Given the description of an element on the screen output the (x, y) to click on. 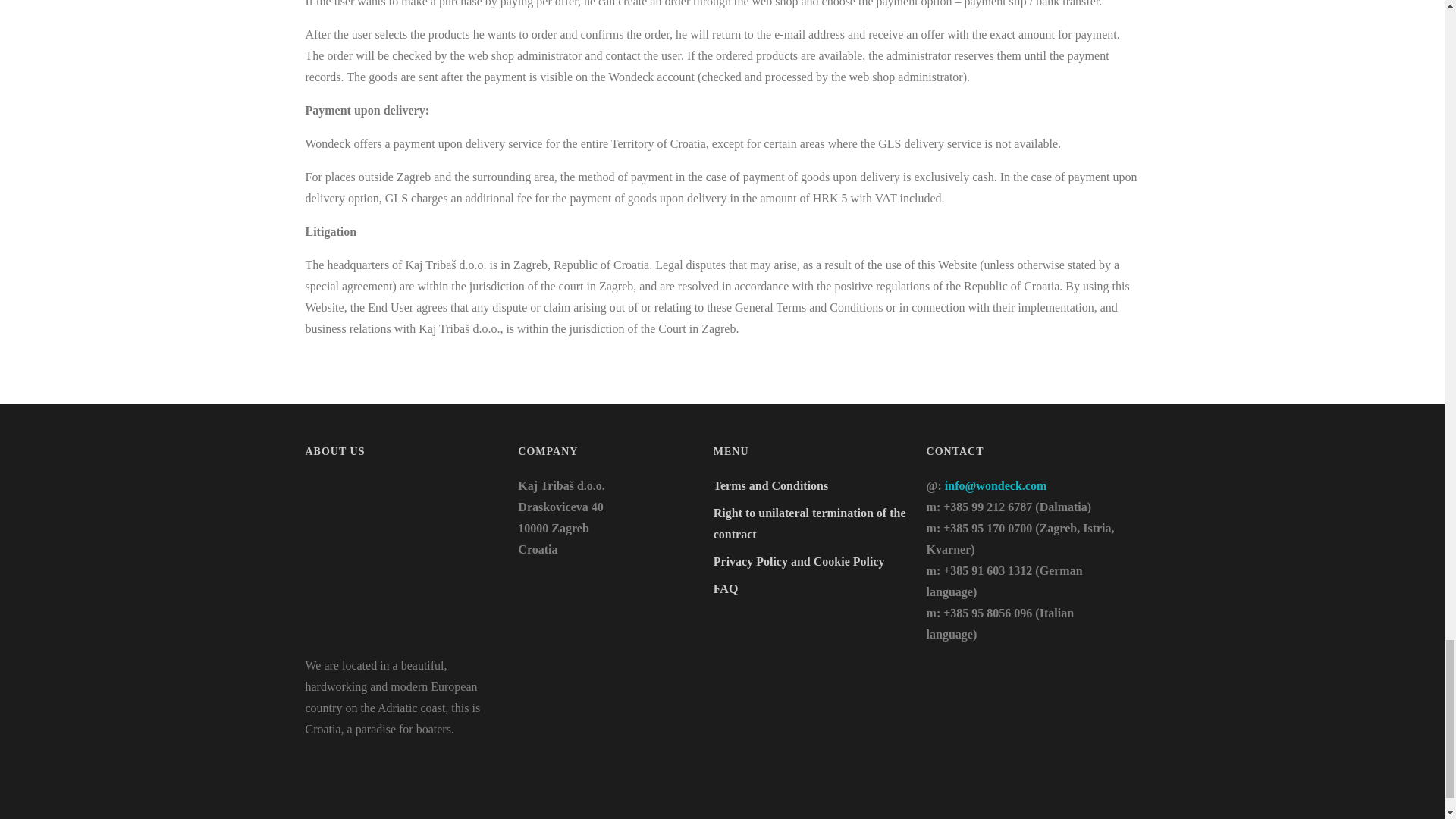
Right to unilateral termination of the contract (809, 523)
Privacy Policy and Cookie Policy (799, 561)
FAQ (725, 588)
Terms and Conditions (770, 485)
